Given the description of an element on the screen output the (x, y) to click on. 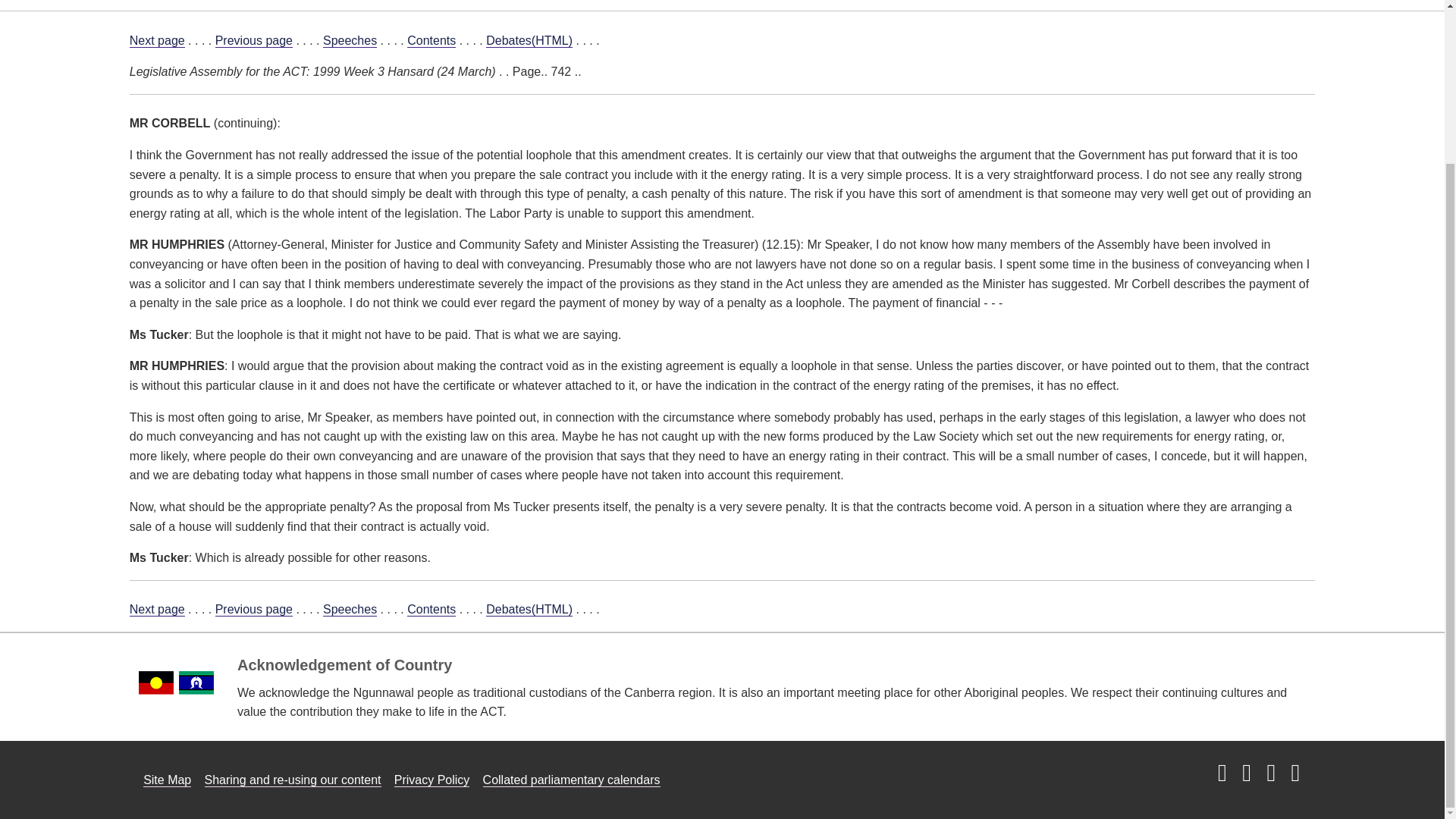
Link to Sharing and re-using our content (293, 780)
Collated parliamentary calendars (572, 780)
Contents (431, 40)
Previous page (253, 40)
Speeches (350, 609)
Speeches (350, 40)
Link to Privacy Policy (432, 780)
Contents (431, 609)
Sharing and re-using our content (293, 780)
Next page (156, 40)
